Given the description of an element on the screen output the (x, y) to click on. 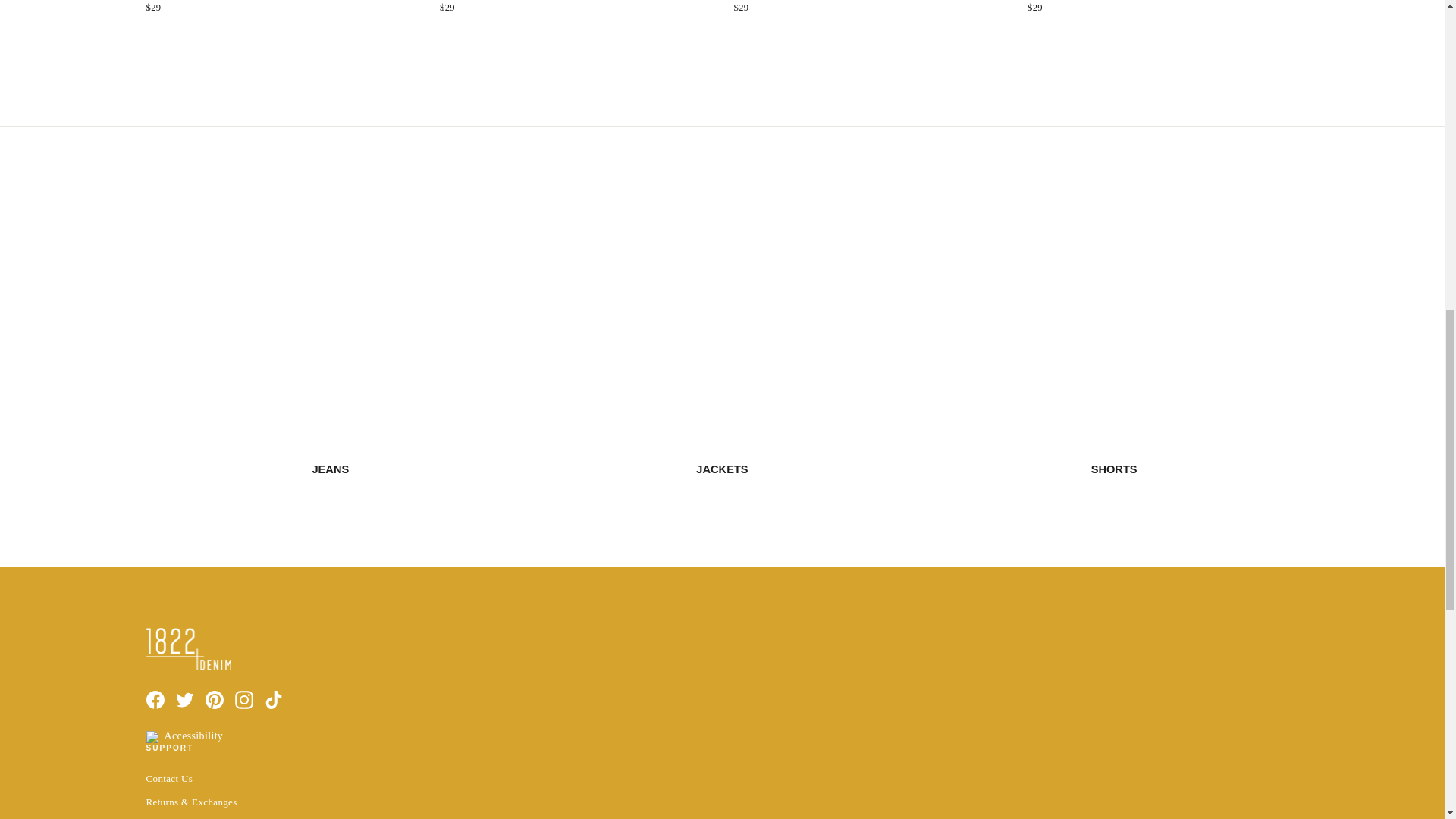
1822 Denim on Twitter (184, 700)
1822 Denim on TikTok (272, 700)
1822 Denim on Facebook (154, 700)
1822 Denim on Instagram (243, 700)
1822 Denim on Pinterest (213, 700)
